Given the description of an element on the screen output the (x, y) to click on. 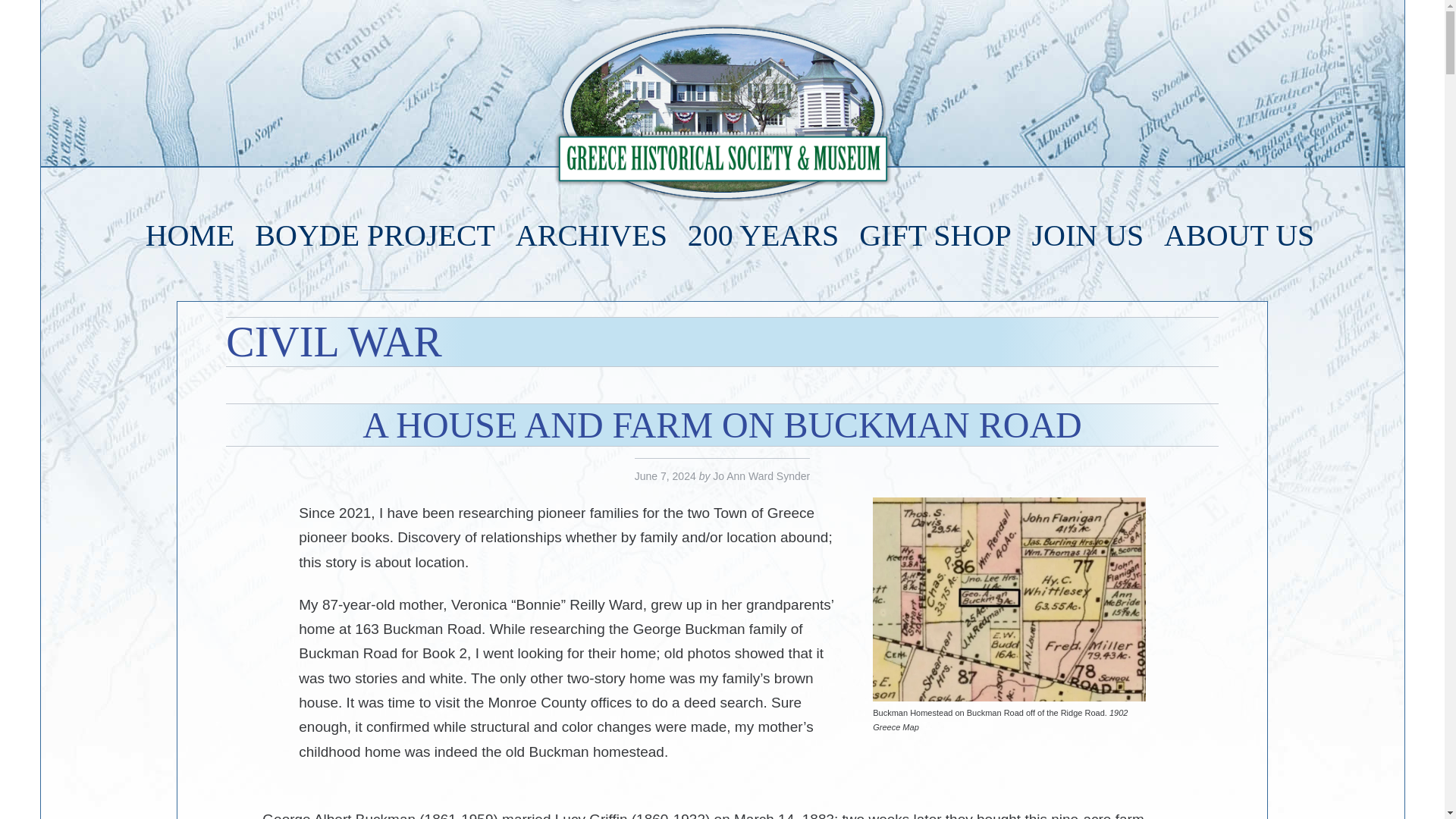
A HOUSE AND FARM ON BUCKMAN ROAD (721, 424)
HOME (190, 235)
June 7, 2024 (664, 476)
BOYDE PROJECT (374, 235)
ABOUT US (1238, 235)
GIFT SHOP (934, 235)
200 YEARS (763, 235)
Jo Ann Ward Synder (761, 476)
ARCHIVES (590, 235)
